Given the description of an element on the screen output the (x, y) to click on. 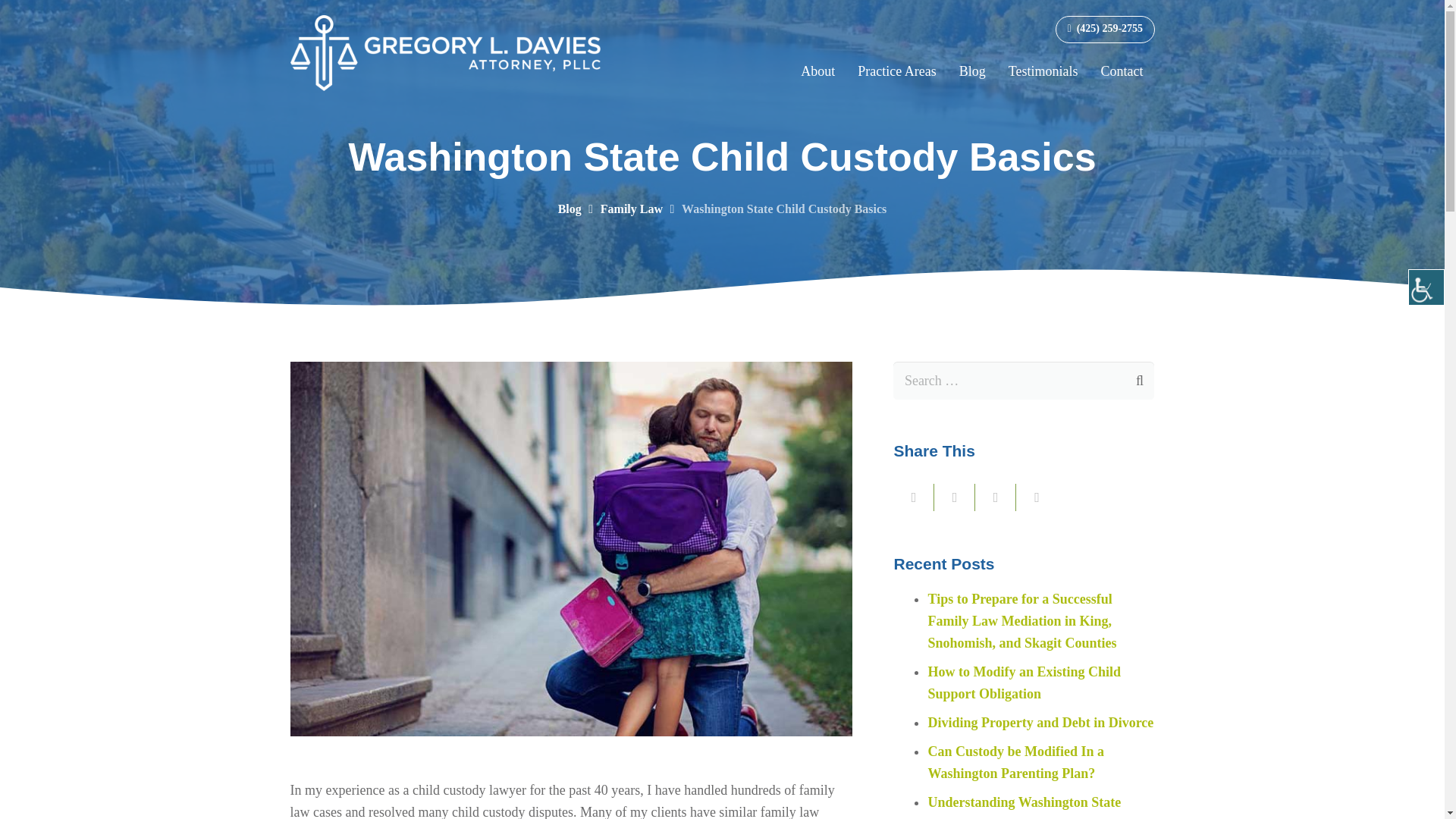
Email this (913, 497)
Blog (568, 208)
Washington State Child Custody Basics (783, 208)
Tweet this (995, 497)
Blog (972, 71)
Family Law (630, 208)
Testimonials (1043, 71)
Contact (1121, 71)
About (817, 71)
Share this (1036, 497)
